Given the description of an element on the screen output the (x, y) to click on. 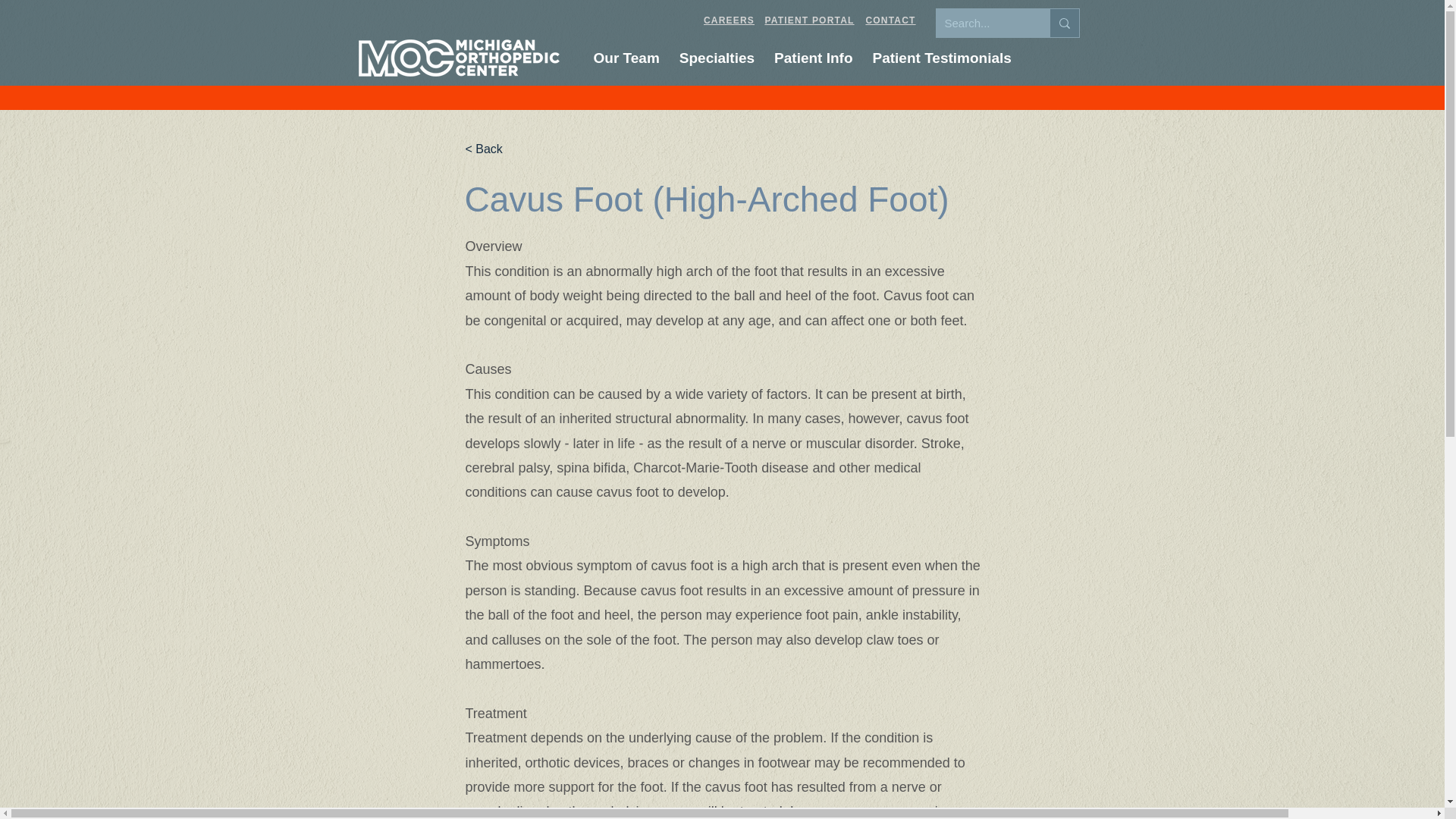
Specialties (716, 57)
Patient Testimonials (941, 57)
CAREERS (839, 57)
CONTACT (729, 20)
Our Team (890, 20)
Patient Info (625, 57)
PATIENT PORTAL (813, 57)
